Given the description of an element on the screen output the (x, y) to click on. 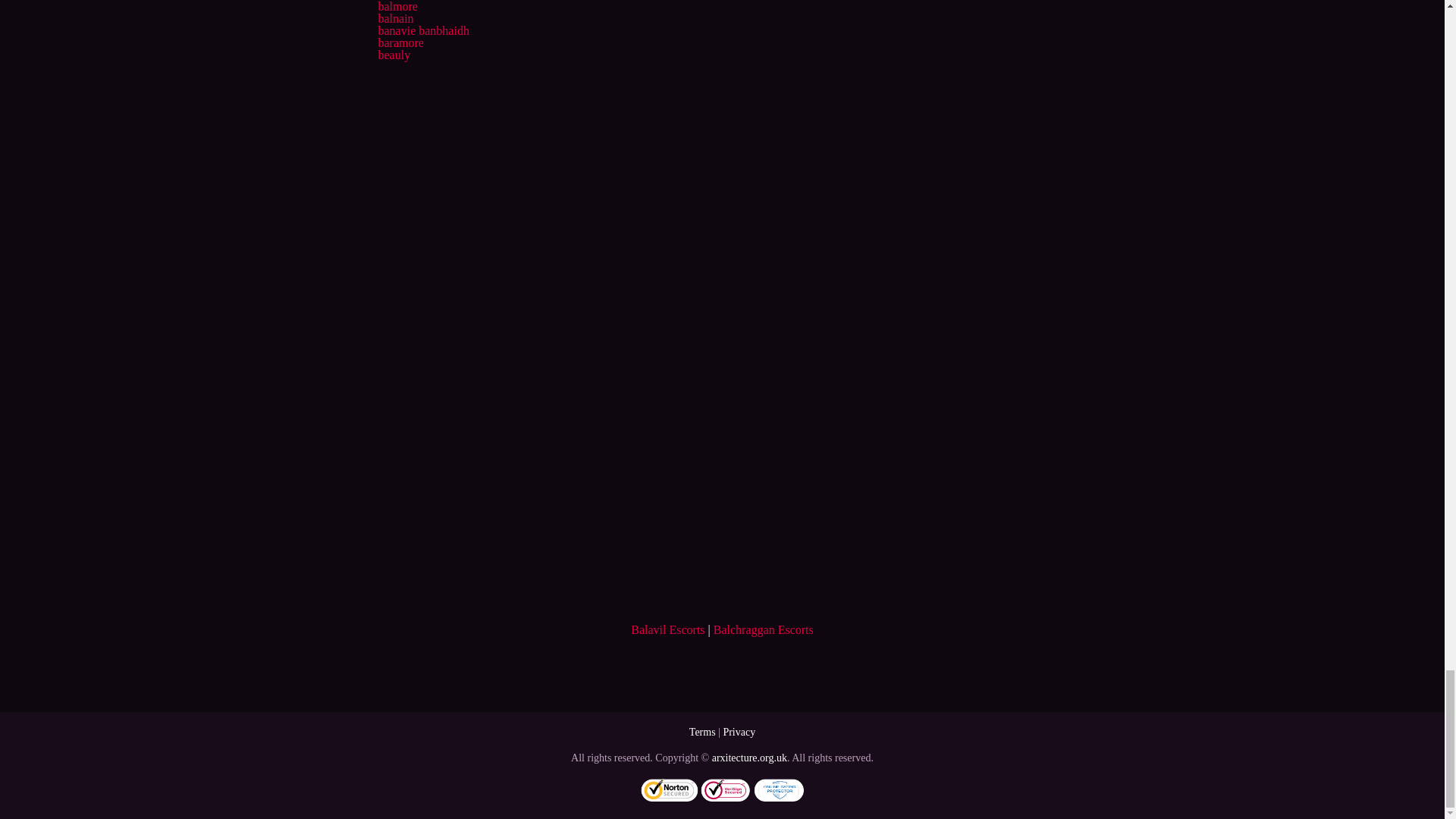
balmore (396, 6)
Balavil Escorts (667, 629)
Terms (702, 731)
Terms (702, 731)
baramore (400, 42)
beauly (393, 54)
banavie banbhaidh (422, 30)
Balchraggan Escorts (763, 629)
balnain (395, 18)
